Given the description of an element on the screen output the (x, y) to click on. 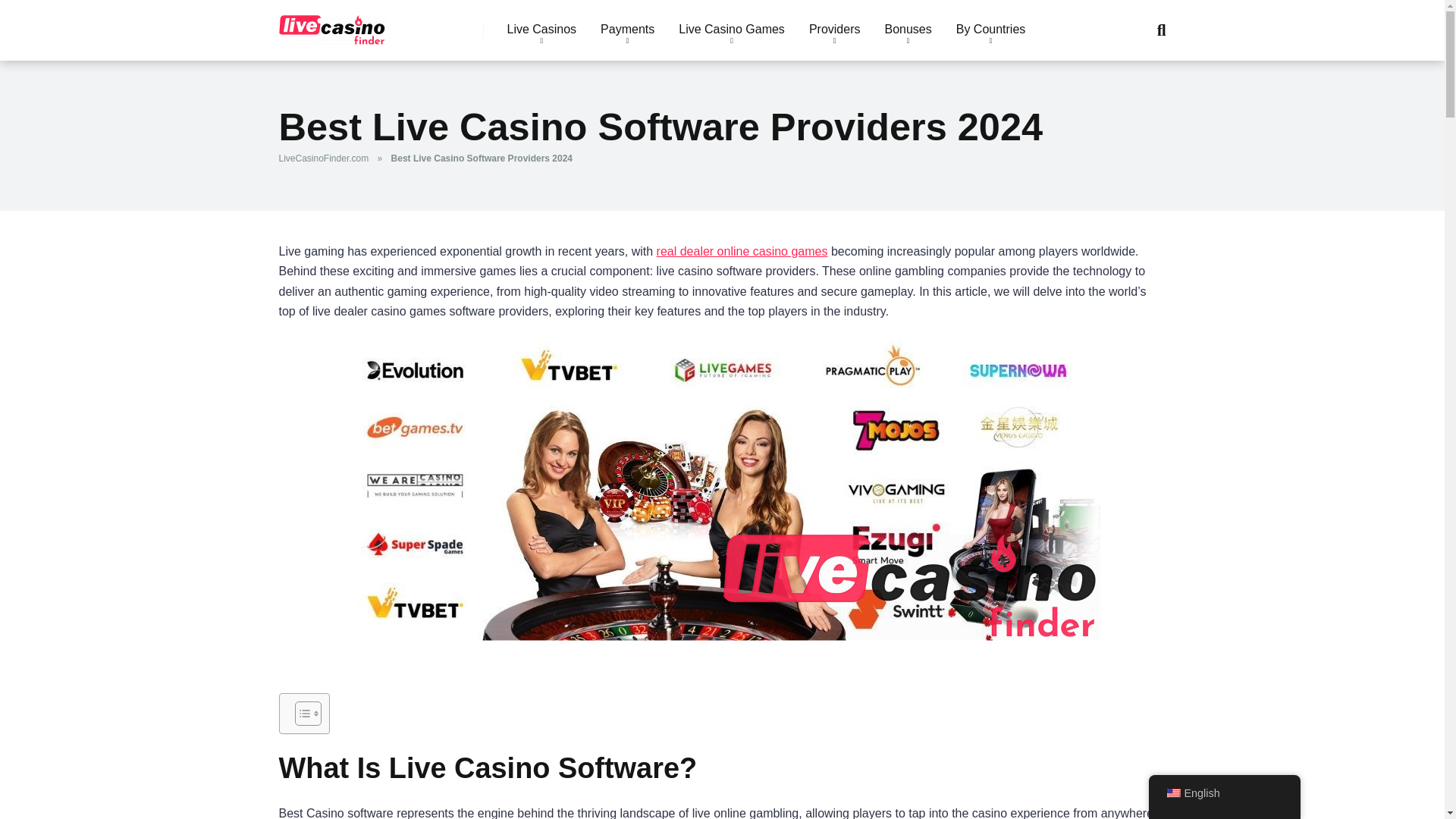
Bonuses (907, 30)
Providers (834, 30)
livecasinofinder.com (332, 24)
Live Casinos (541, 30)
Live Casino Games (731, 30)
Payments (627, 30)
